Given the description of an element on the screen output the (x, y) to click on. 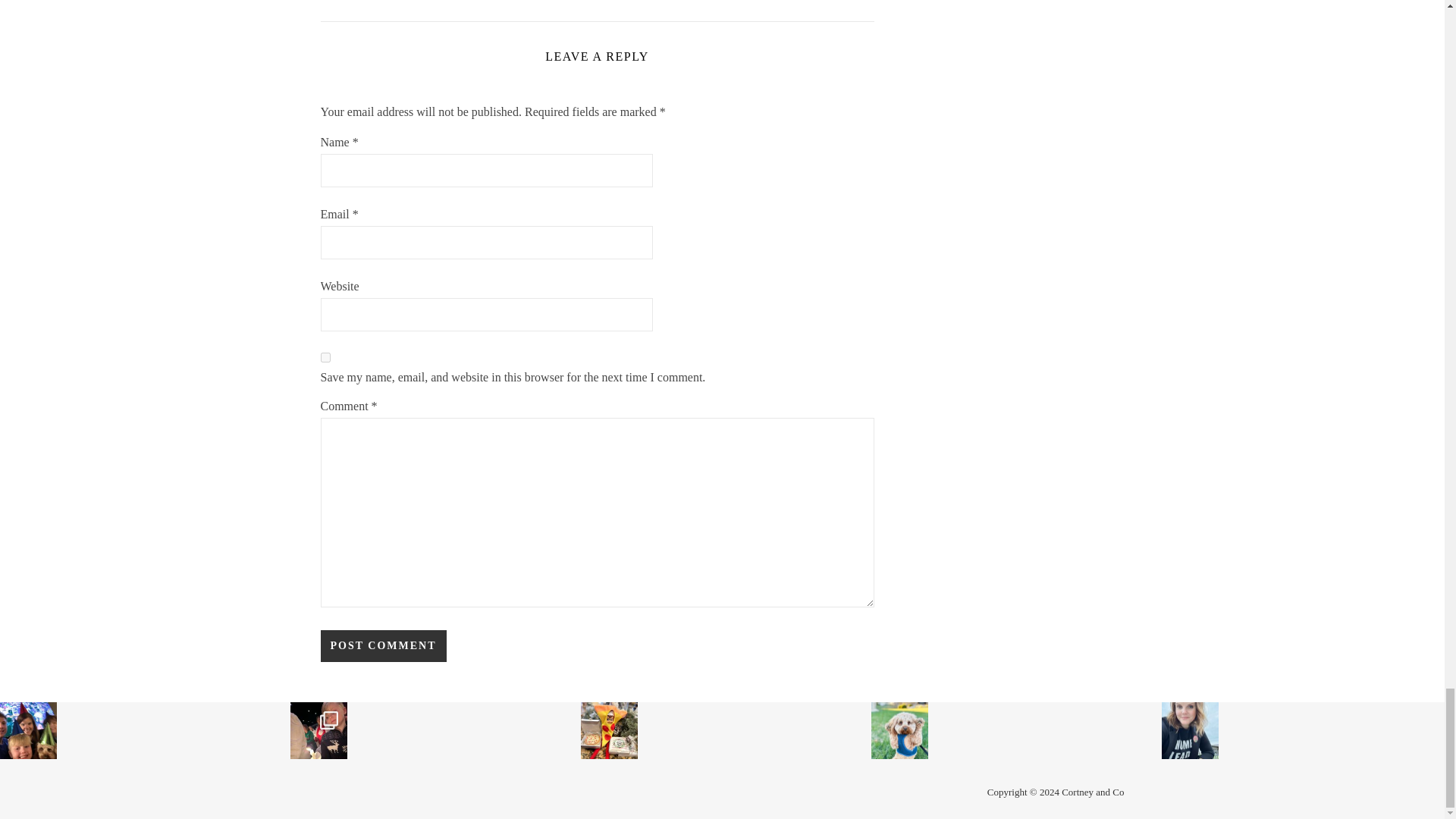
yes (325, 357)
Post Comment (382, 645)
Post Comment (382, 645)
